Given the description of an element on the screen output the (x, y) to click on. 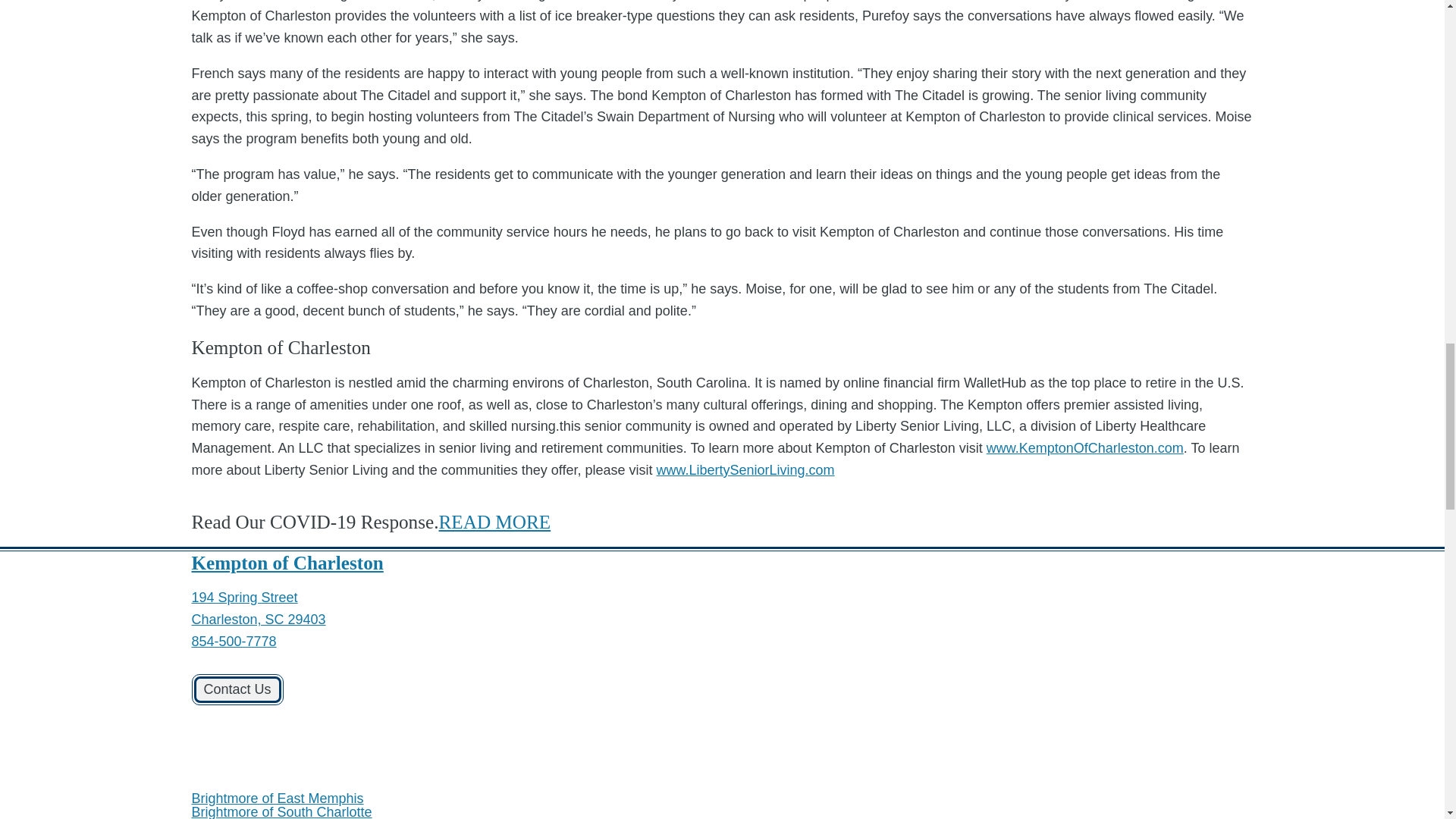
link will open in a new tab (257, 608)
link will open in a new tab (266, 784)
